Given the description of an element on the screen output the (x, y) to click on. 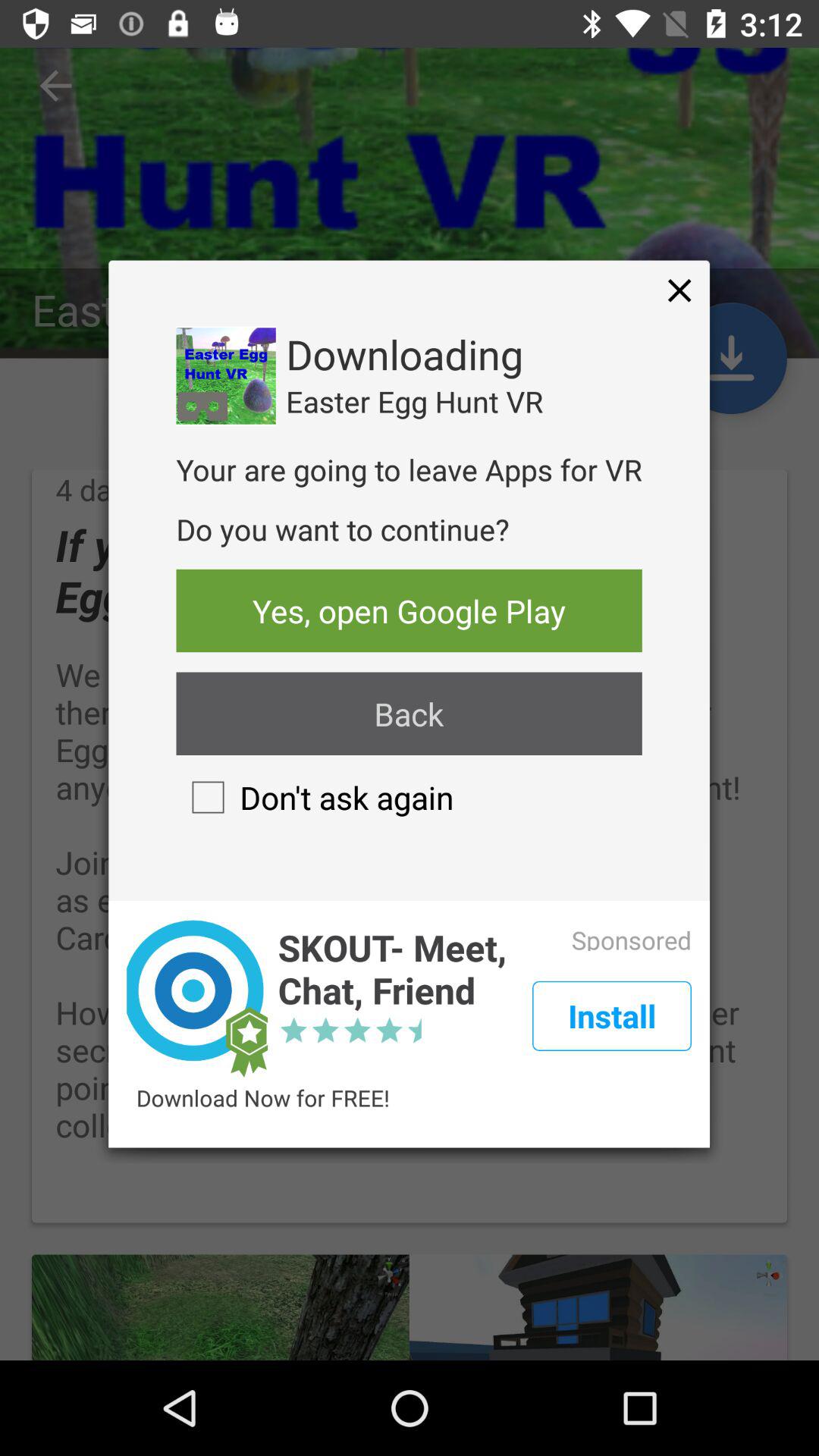
click the don t ask icon (314, 797)
